Given the description of an element on the screen output the (x, y) to click on. 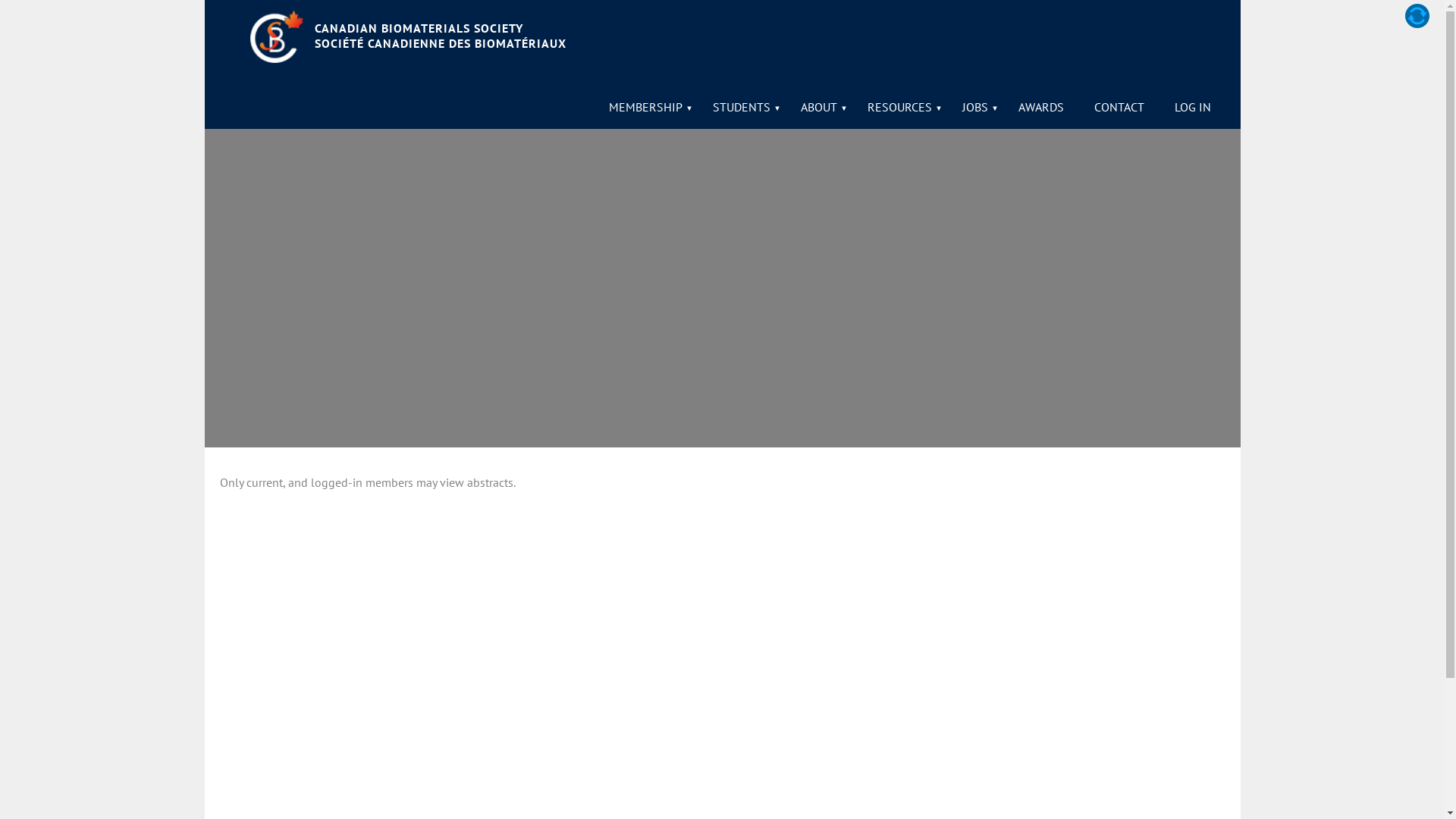
JOBS Element type: text (974, 106)
RESOURCES Element type: text (899, 106)
Refresh Element type: hover (1417, 15)
CONTACT Element type: text (1118, 106)
STUDENTS Element type: text (741, 106)
LOG IN Element type: text (1191, 106)
MEMBERSHIP Element type: text (644, 106)
AWARDS Element type: text (1040, 106)
ABOUT Element type: text (818, 106)
